Given the description of an element on the screen output the (x, y) to click on. 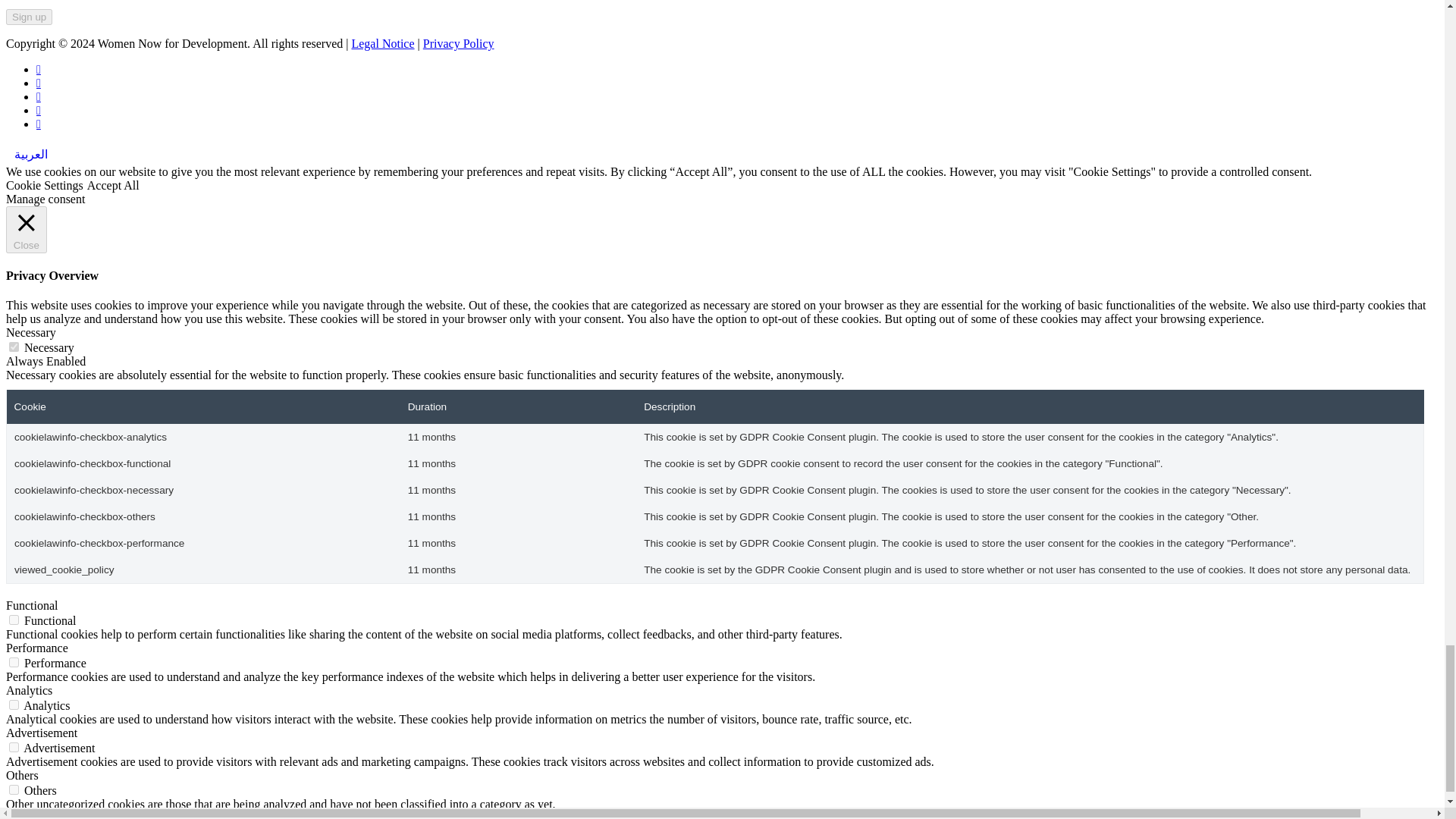
on (13, 705)
on (13, 662)
on (13, 747)
Sign up (28, 17)
Privacy Policy (459, 42)
on (13, 347)
on (13, 789)
on (13, 619)
